Given the description of an element on the screen output the (x, y) to click on. 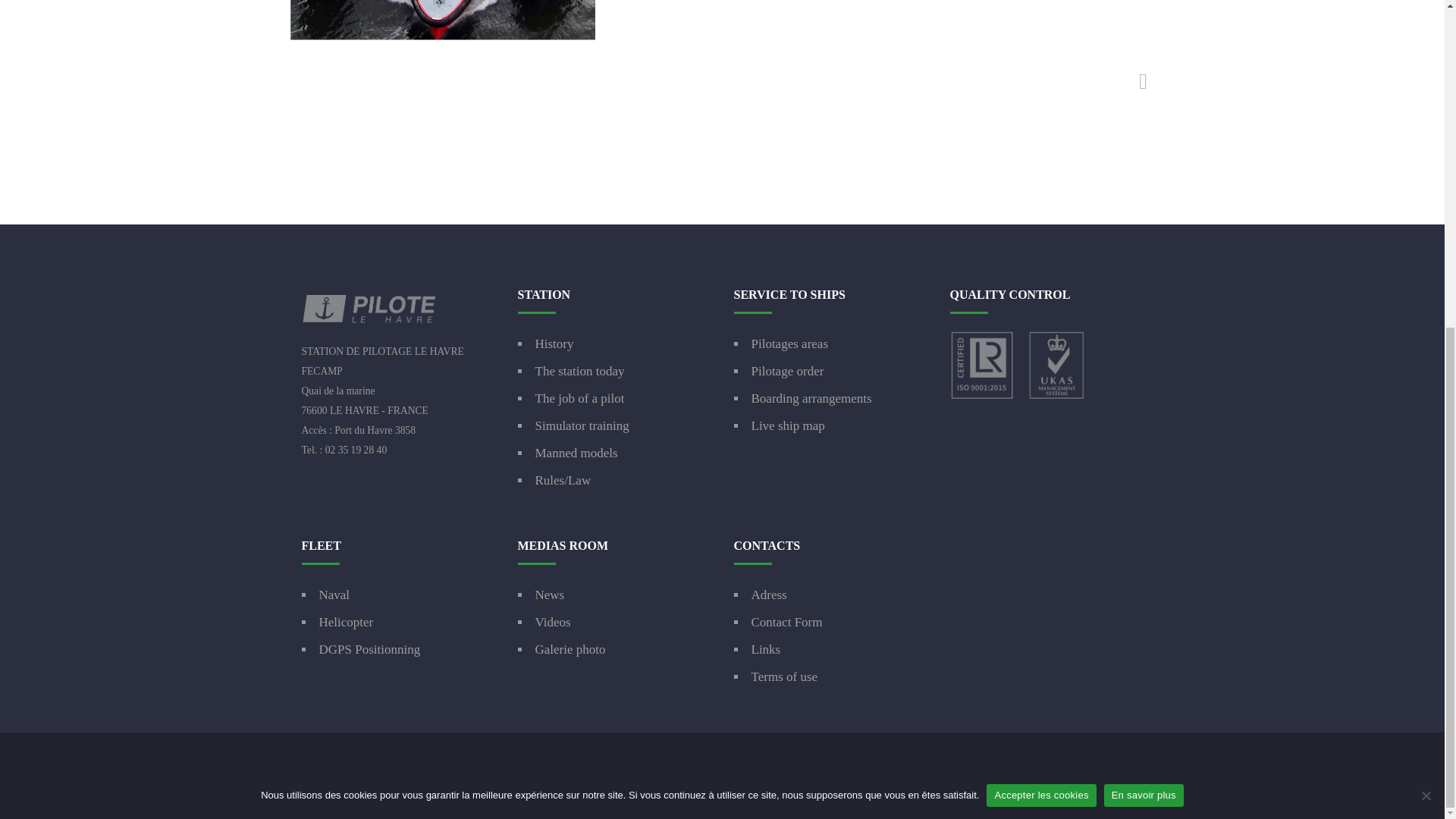
Non (1425, 255)
